Given the description of an element on the screen output the (x, y) to click on. 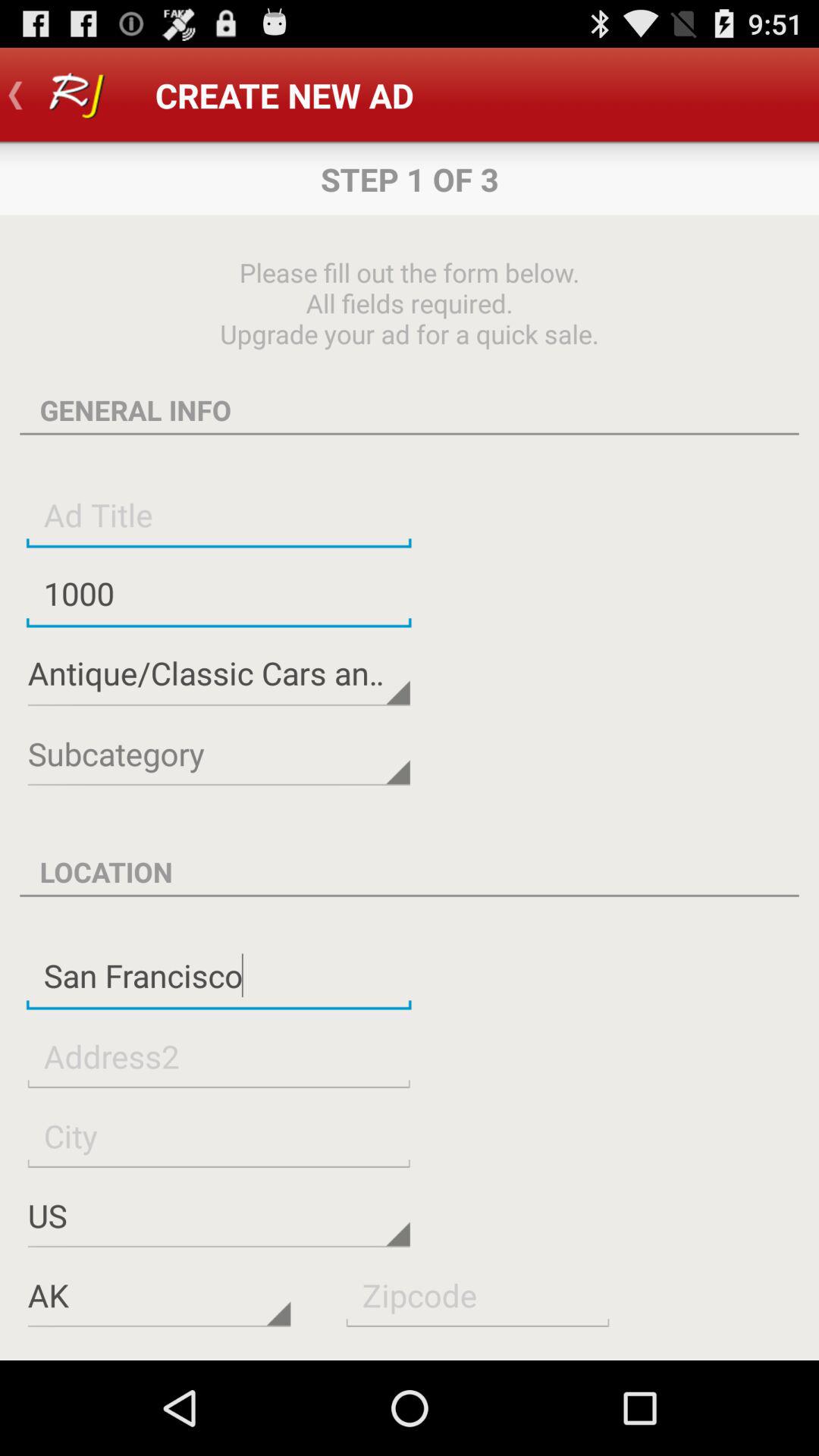
add a name (218, 514)
